Given the description of an element on the screen output the (x, y) to click on. 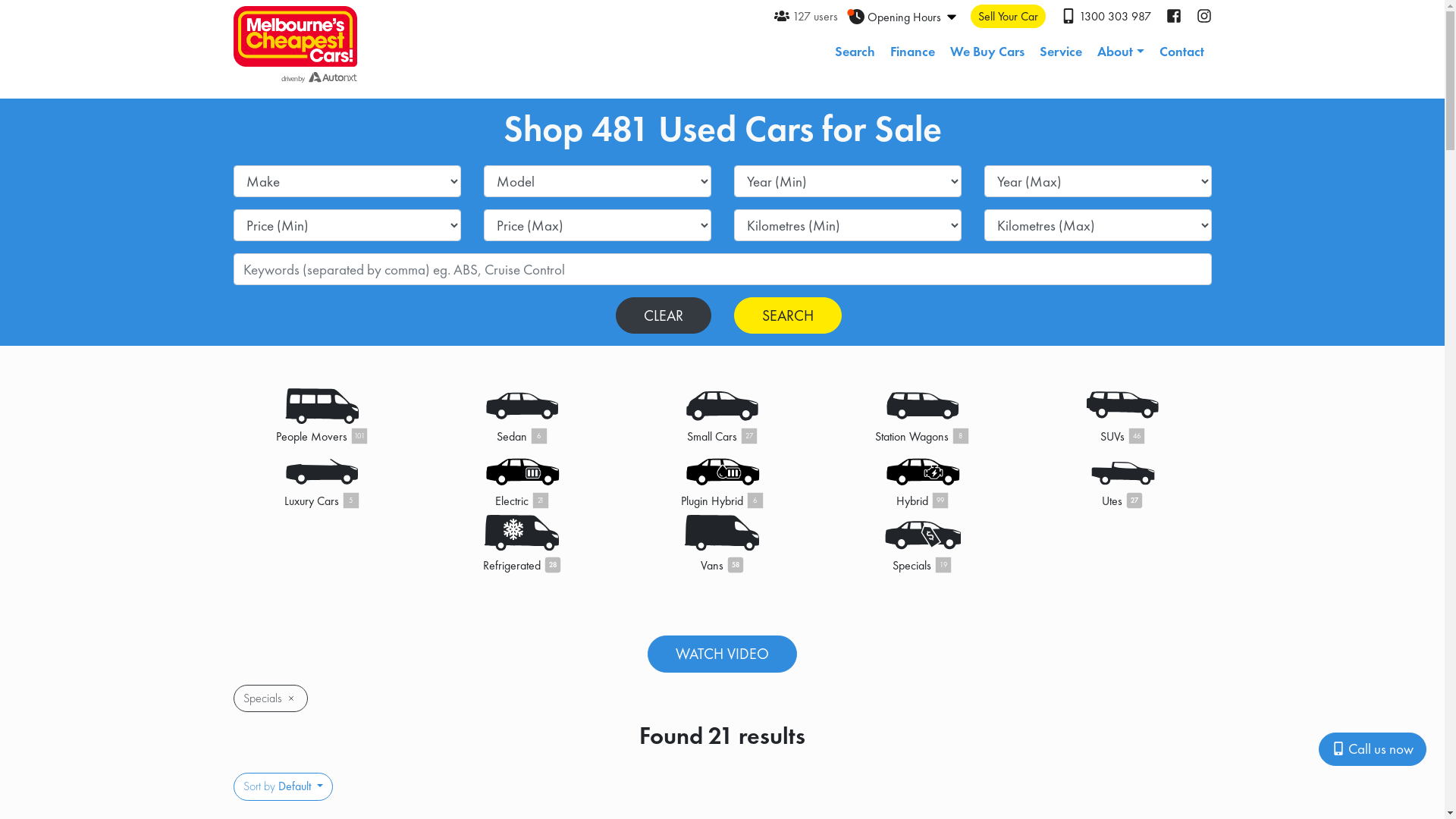
Instagram Element type: hover (1203, 16)
People Movers 101 Element type: text (322, 414)
Finance Element type: text (912, 51)
Hybrid 99 Element type: text (922, 479)
Refrigerated 28 Element type: text (522, 543)
SEARCH Element type: text (787, 315)
Call us now Element type: text (1372, 748)
CLEAR Element type: text (663, 315)
WATCH VIDEO Element type: text (722, 653)
Electric 21 Element type: text (522, 479)
Contact Element type: text (1181, 51)
Luxury Cars 5 Element type: text (322, 479)
Small Cars 27 Element type: text (722, 414)
Service Element type: text (1060, 51)
1300 303 987 Element type: text (1105, 16)
Utes 27 Element type: text (1122, 479)
Sort by Default Element type: text (282, 786)
We Buy Cars Element type: text (987, 51)
Sedan 6 Element type: text (522, 414)
Specials 19 Element type: text (922, 543)
Opening Hours Element type: text (904, 17)
Sell Your Car Element type: text (1007, 16)
Plugin Hybrid 6 Element type: text (722, 479)
Vans 58 Element type: text (722, 543)
Search Element type: text (854, 51)
About Element type: text (1120, 51)
Facebook Element type: hover (1181, 16)
SUVs 46 Element type: text (1122, 414)
Station Wagons 8 Element type: text (922, 414)
